Given the description of an element on the screen output the (x, y) to click on. 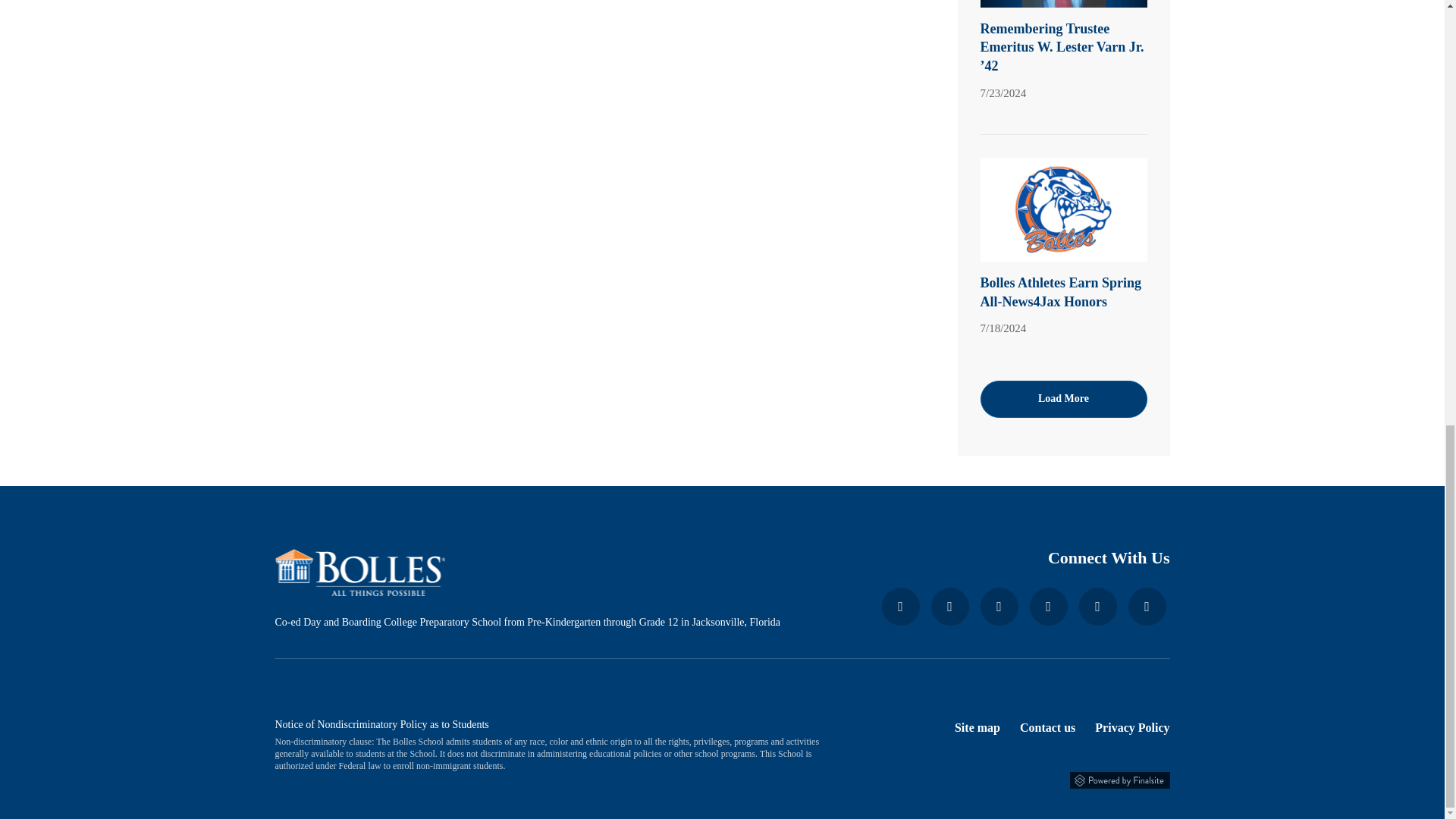
Bolles athletic logo (1063, 210)
man in suit and tie smiling (1063, 4)
Powered by Finalsite opens in a new window (722, 778)
